Given the description of an element on the screen output the (x, y) to click on. 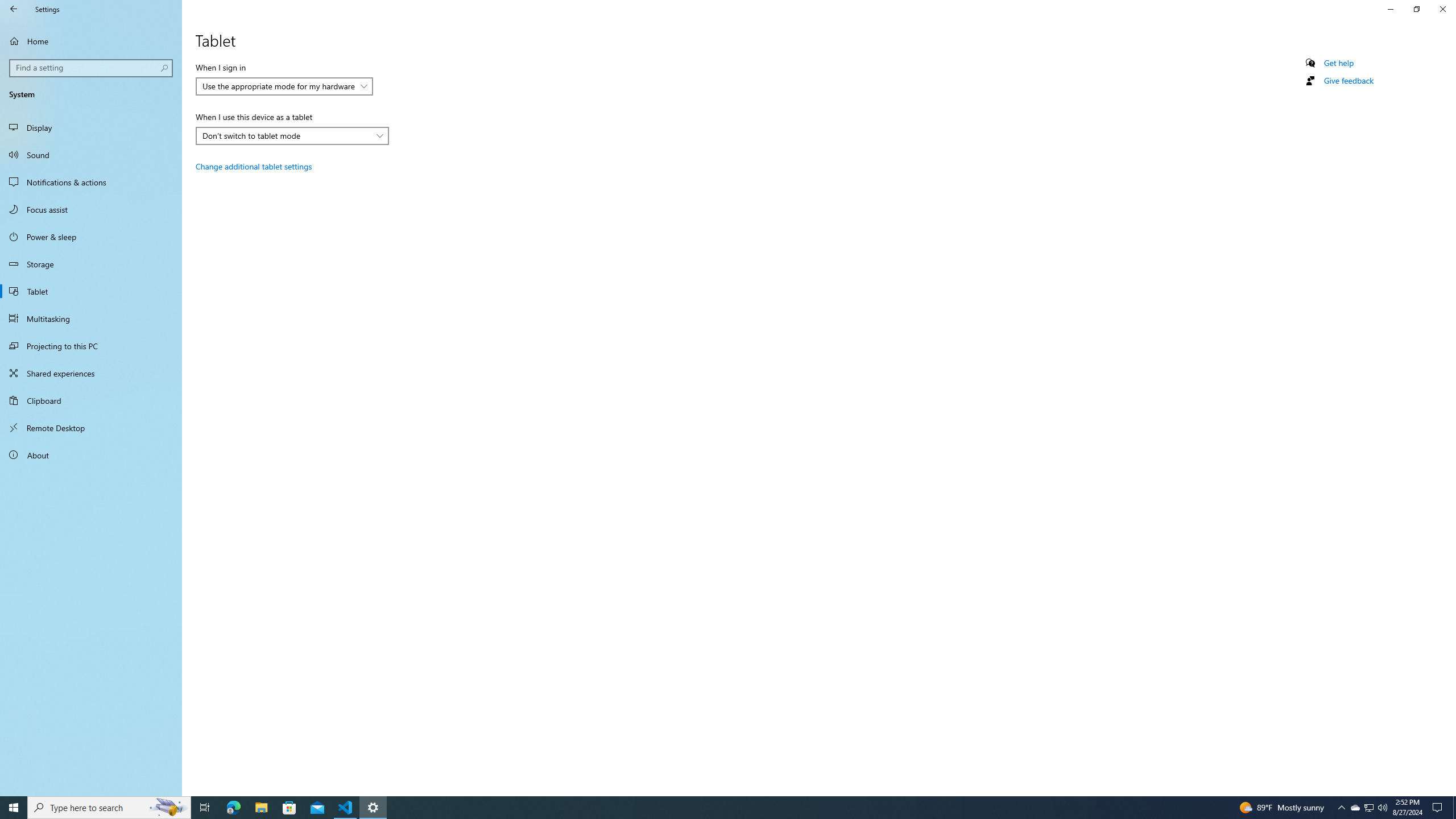
Projecting to this PC (91, 345)
